Given the description of an element on the screen output the (x, y) to click on. 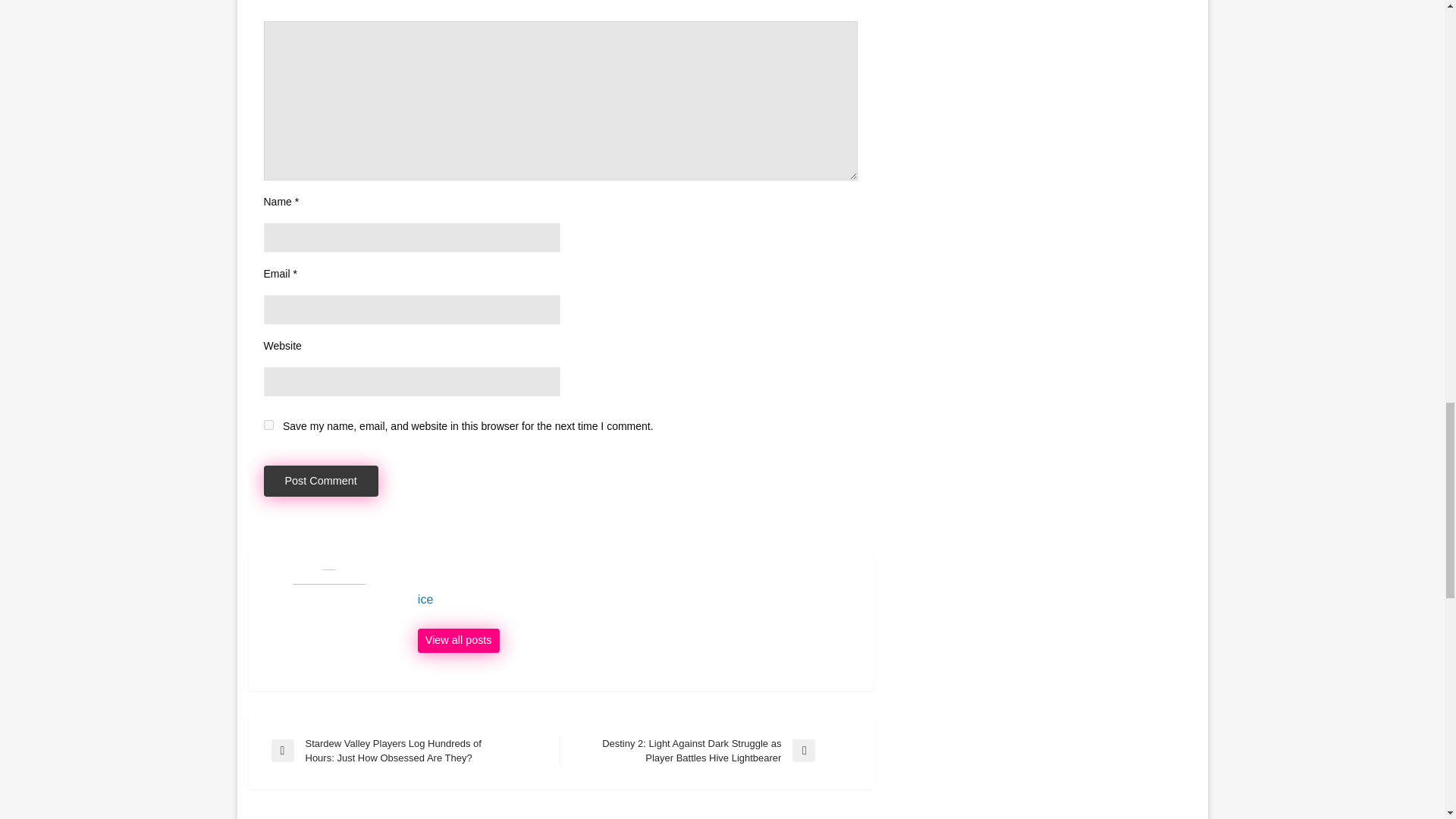
ice (637, 599)
Post Comment (320, 481)
yes (268, 424)
ice (458, 640)
ice (637, 599)
View all posts (458, 640)
Post Comment (320, 481)
